Given the description of an element on the screen output the (x, y) to click on. 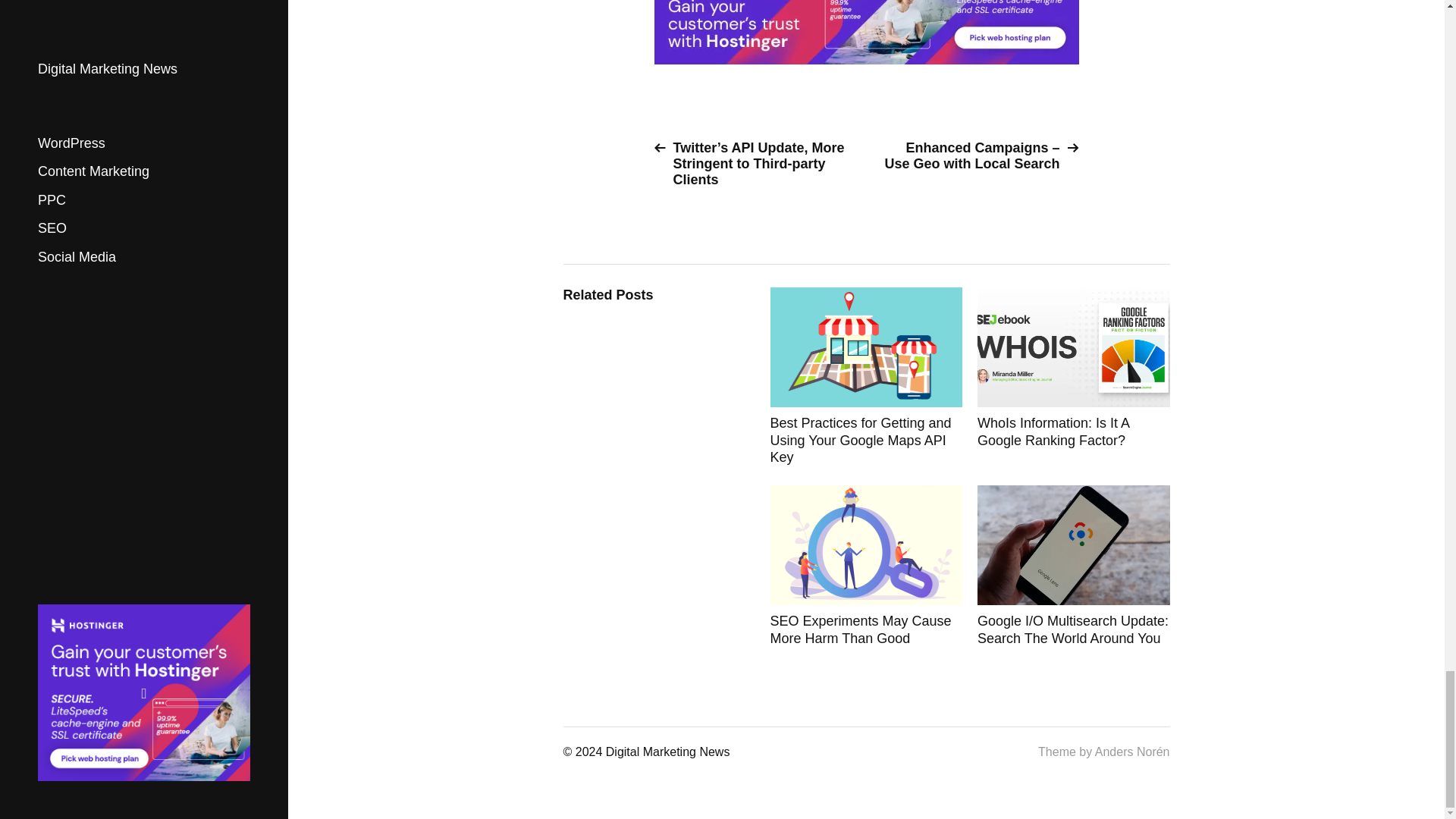
Digital Marketing News (667, 752)
WhoIs Information: Is It A Google Ranking Factor? (1073, 376)
SEO Experiments May Cause More Harm Than Good (866, 566)
